Given the description of an element on the screen output the (x, y) to click on. 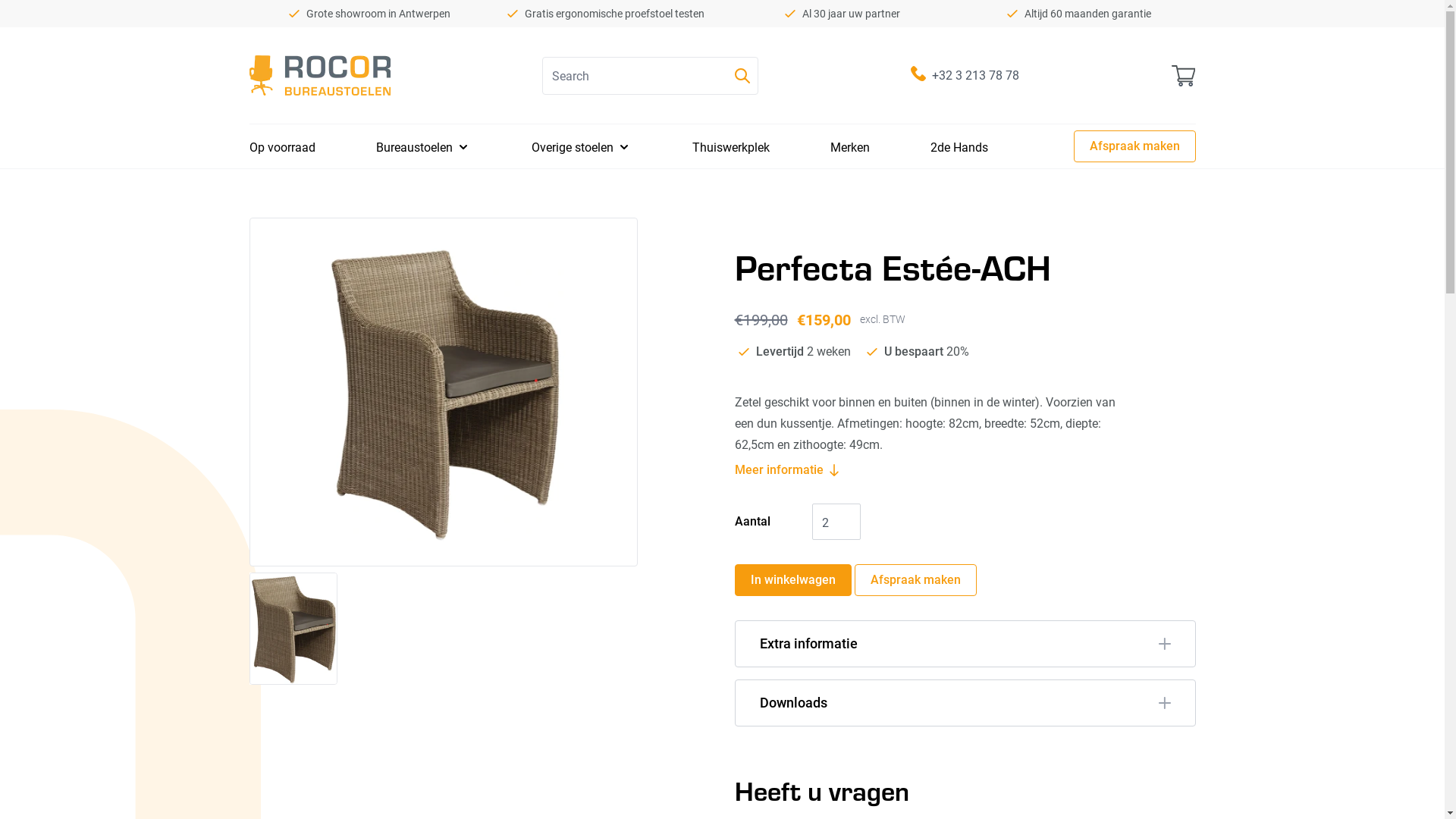
Thuiswerkplek Element type: text (729, 147)
Overige stoelen Element type: text (571, 147)
Afspraak maken Element type: text (914, 580)
Afspraak maken Element type: text (1134, 146)
Merken Element type: text (849, 147)
2de Hands Element type: text (958, 147)
Op voorraad Element type: text (281, 147)
+32 3 213 78 78 Element type: text (975, 74)
In winkelwagen Element type: text (792, 580)
Rocor Bureaustoelen Element type: text (318, 75)
Winkelwagen Element type: text (1183, 75)
Meer informatie Element type: text (786, 470)
Bureaustoelen Element type: text (414, 147)
Doorzoek de hele winkel Element type: text (742, 75)
